Given the description of an element on the screen output the (x, y) to click on. 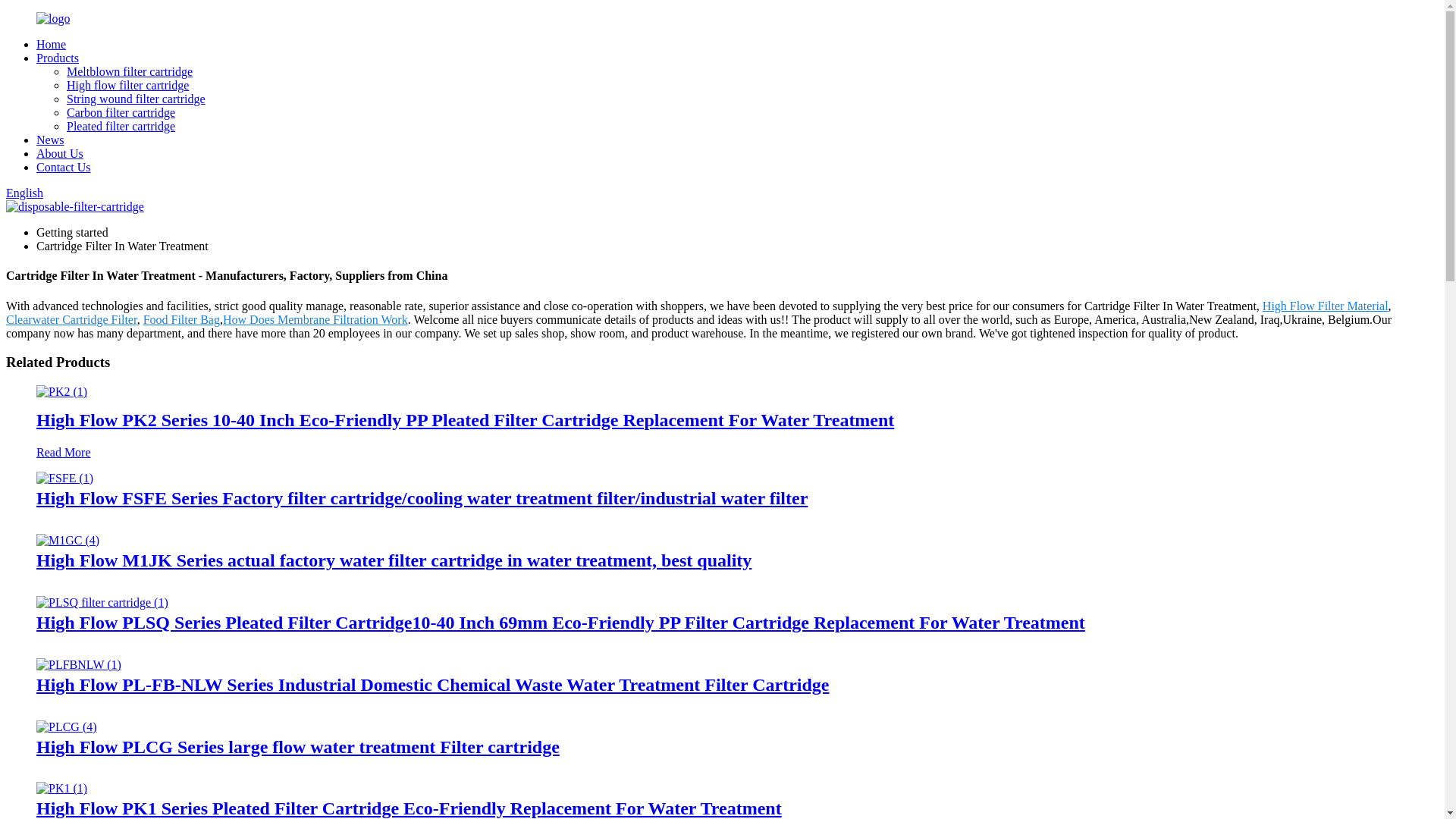
Read More (63, 451)
Contact Us (63, 166)
Clearwater Cartridge Filter (70, 318)
Food Filter Bag (180, 318)
High Flow Filter Material (1325, 305)
Clearwater Cartridge Filter (70, 318)
High flow filter cartridge (127, 84)
